Given the description of an element on the screen output the (x, y) to click on. 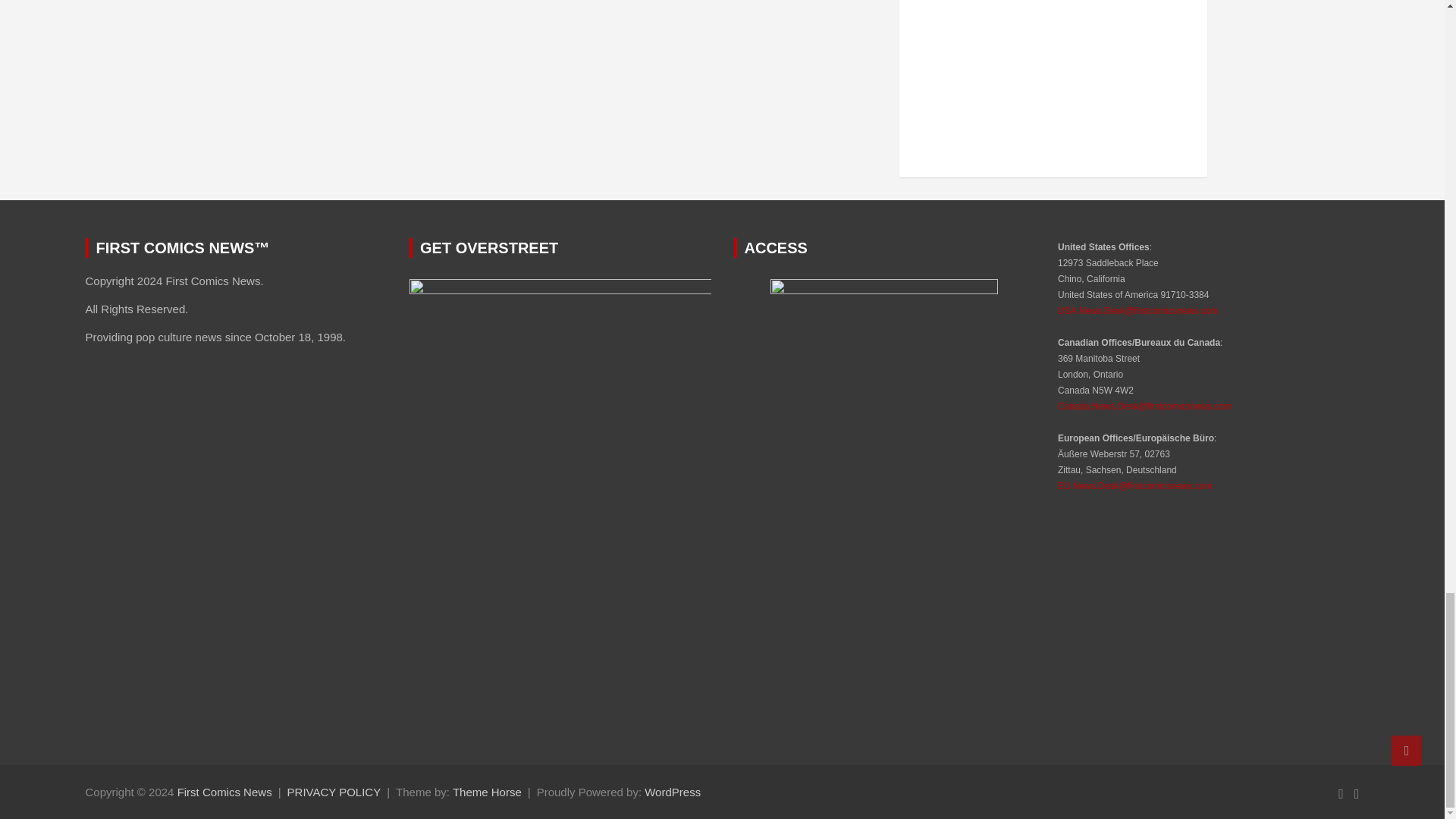
Theme Horse (486, 791)
WordPress (672, 791)
First Comics News (224, 791)
